Given the description of an element on the screen output the (x, y) to click on. 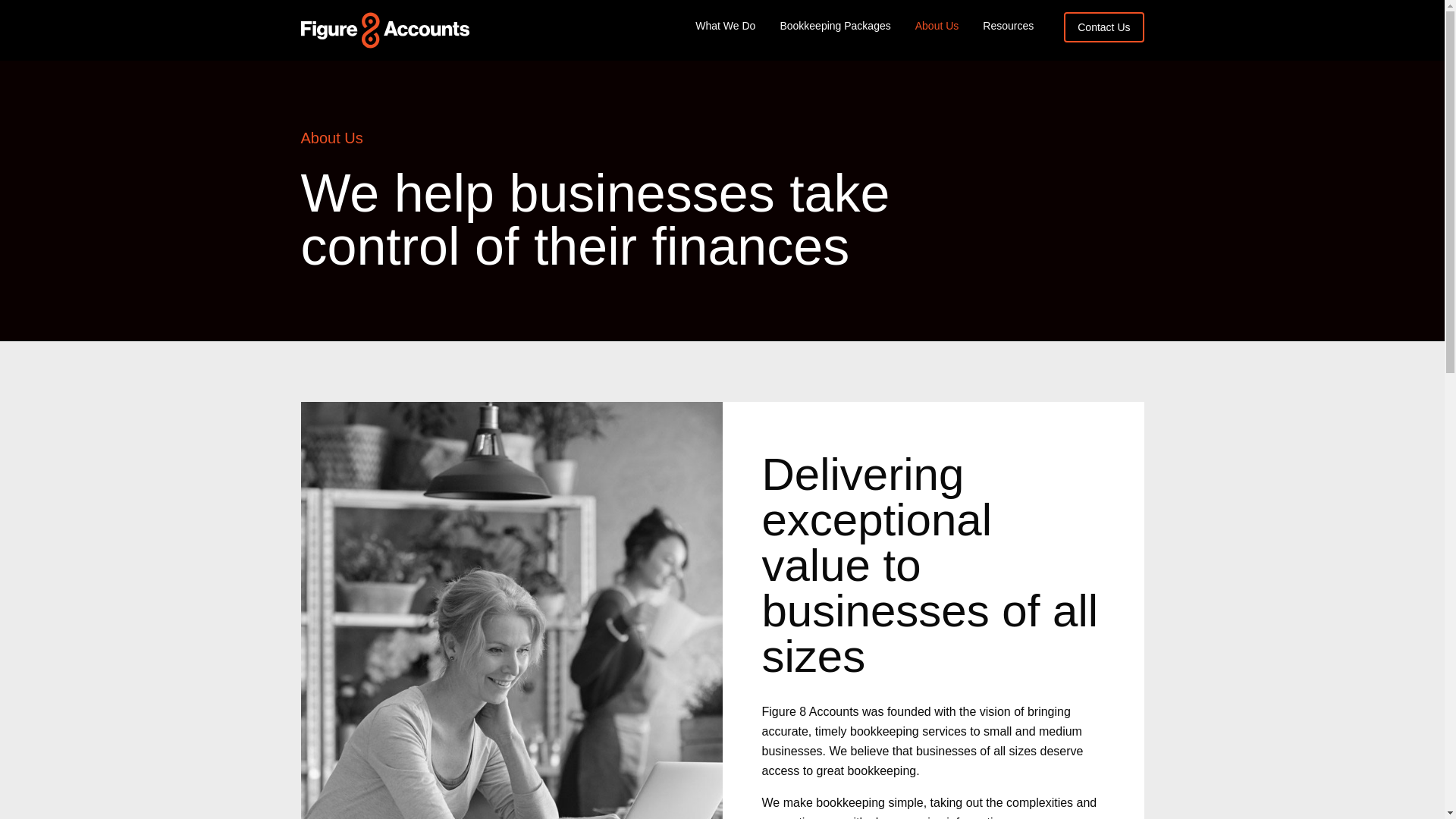
About Us Element type: text (937, 25)
What We Do Element type: text (725, 25)
Resources Element type: text (1007, 25)
Contact Us Element type: text (1103, 27)
Bookkeeping Packages Element type: text (834, 25)
